Given the description of an element on the screen output the (x, y) to click on. 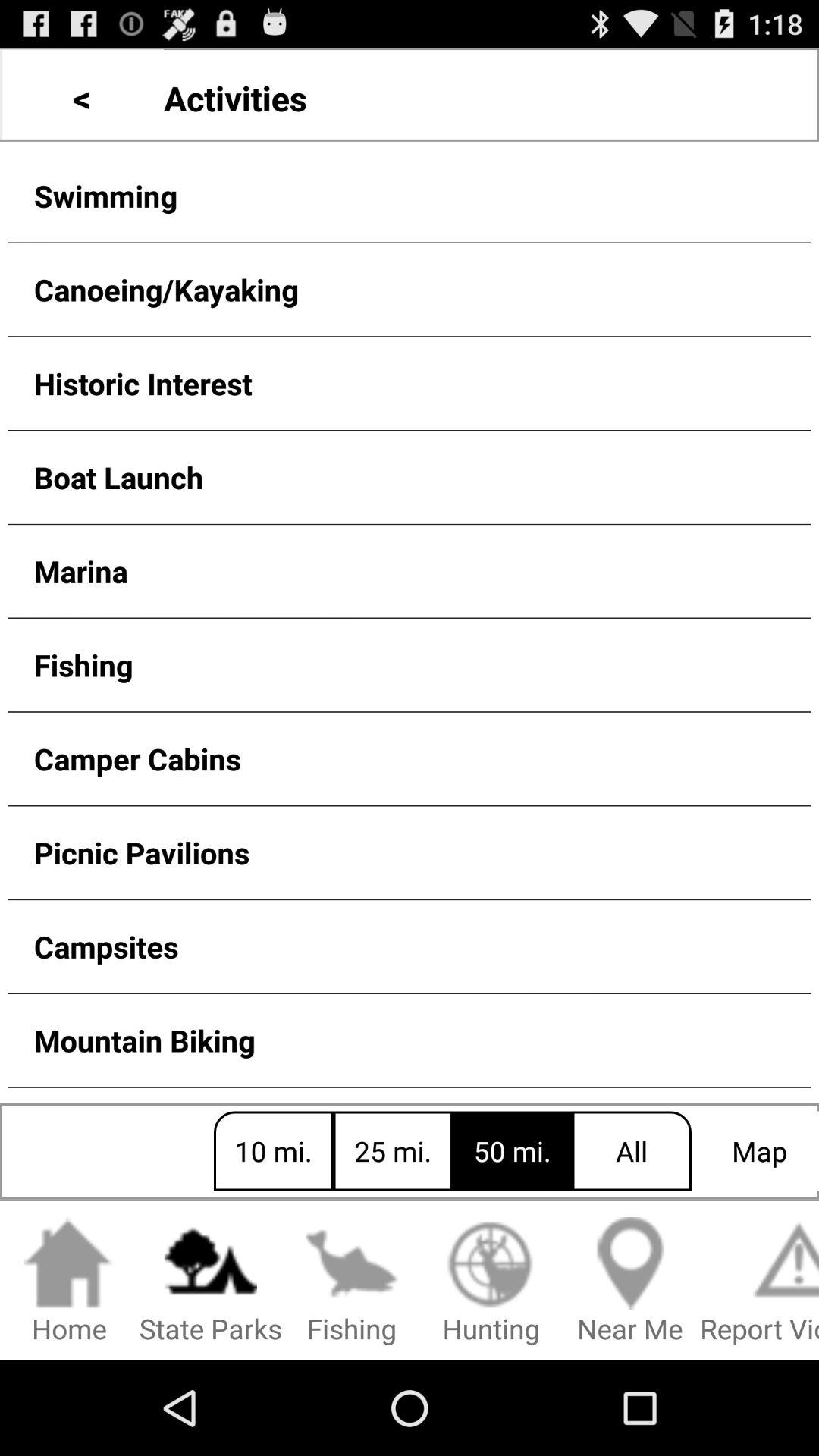
select the item below mountain biking app (69, 1282)
